Given the description of an element on the screen output the (x, y) to click on. 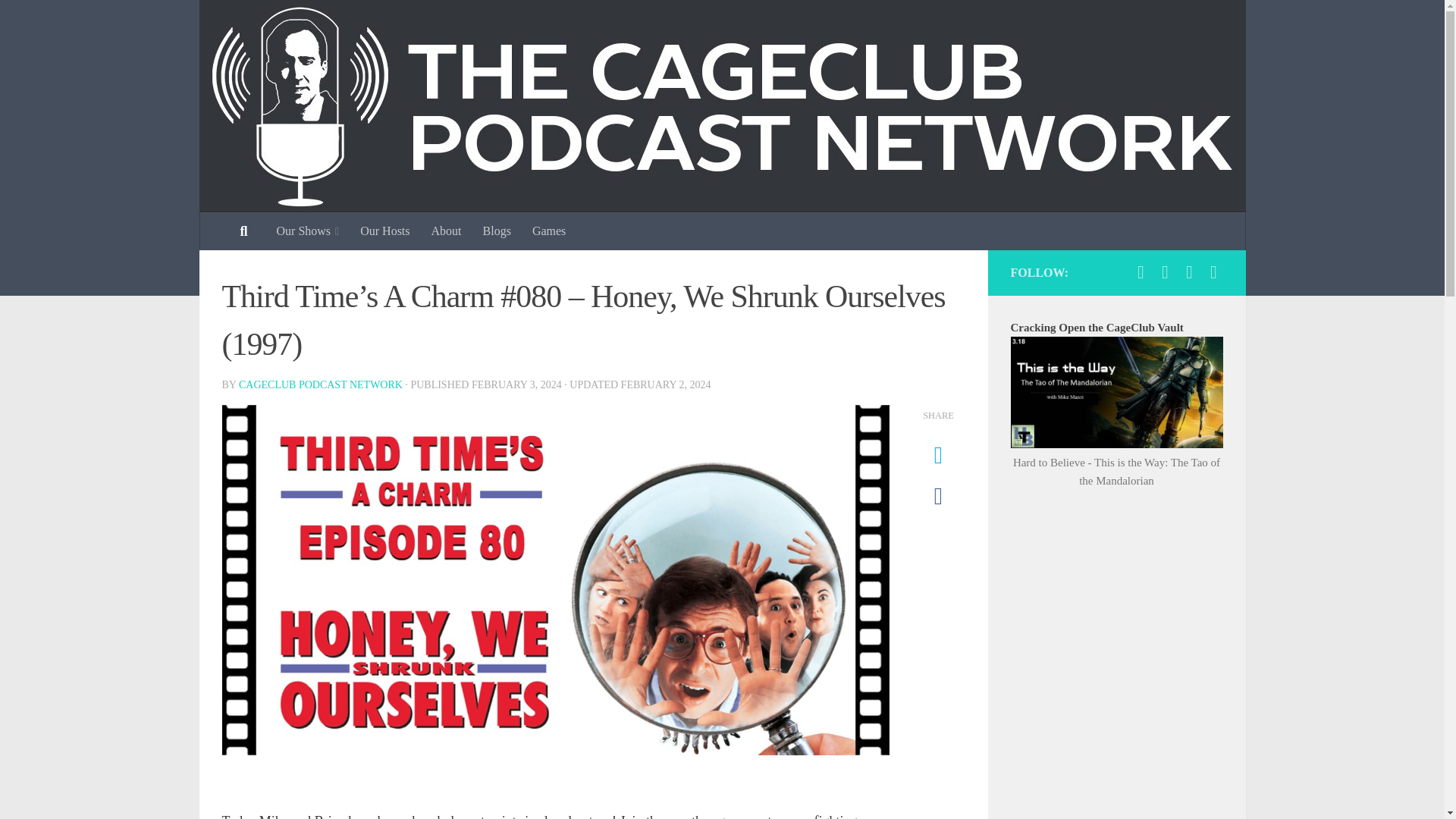
Posts by CageClub Podcast Network (320, 384)
Email the CageClub Podcast Network (1213, 271)
Skip to content (59, 20)
CageClub Podcast Network on Twitter (1164, 271)
CageClub Podcast Network on Facebook (1140, 271)
Follow us on Instagram (1188, 271)
